Given the description of an element on the screen output the (x, y) to click on. 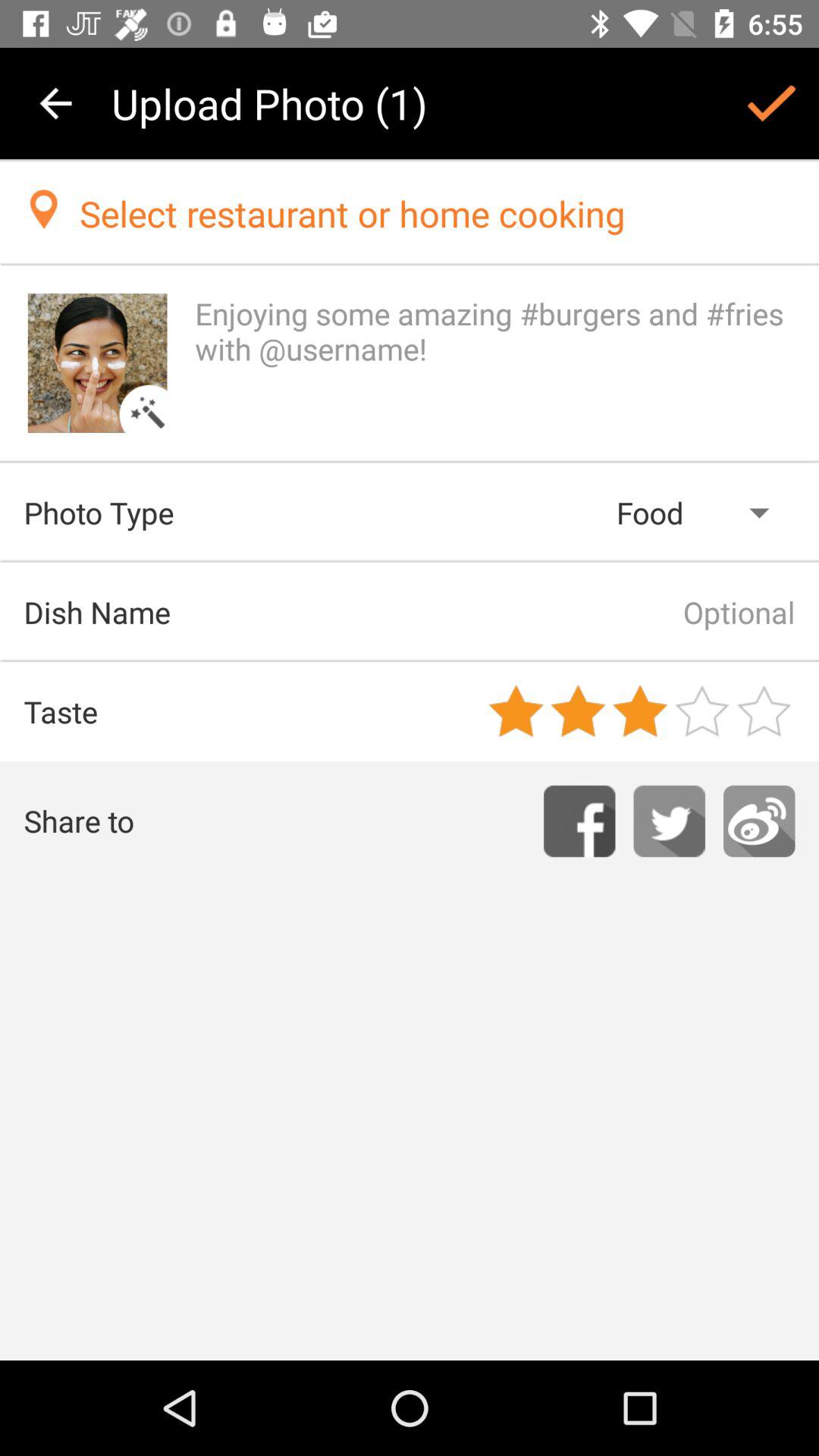
go to twitter option (669, 821)
